Given the description of an element on the screen output the (x, y) to click on. 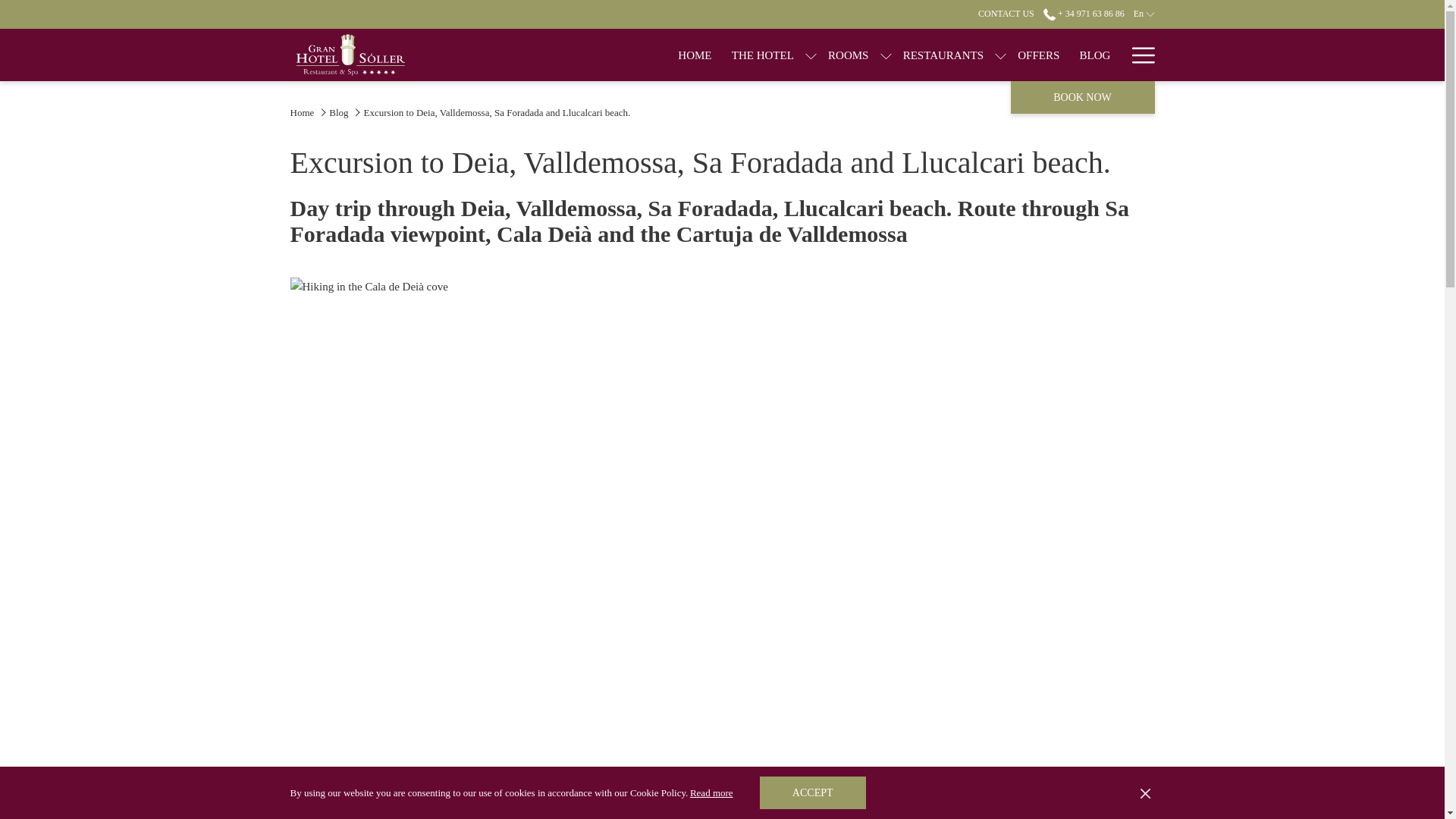
Read more (711, 792)
ROOMS (848, 54)
THE HOTEL (762, 54)
Menu (1142, 55)
CONTACT US (1005, 13)
Back to the homepage (349, 54)
ACCEPT (813, 792)
HOME (694, 54)
